Given the description of an element on the screen output the (x, y) to click on. 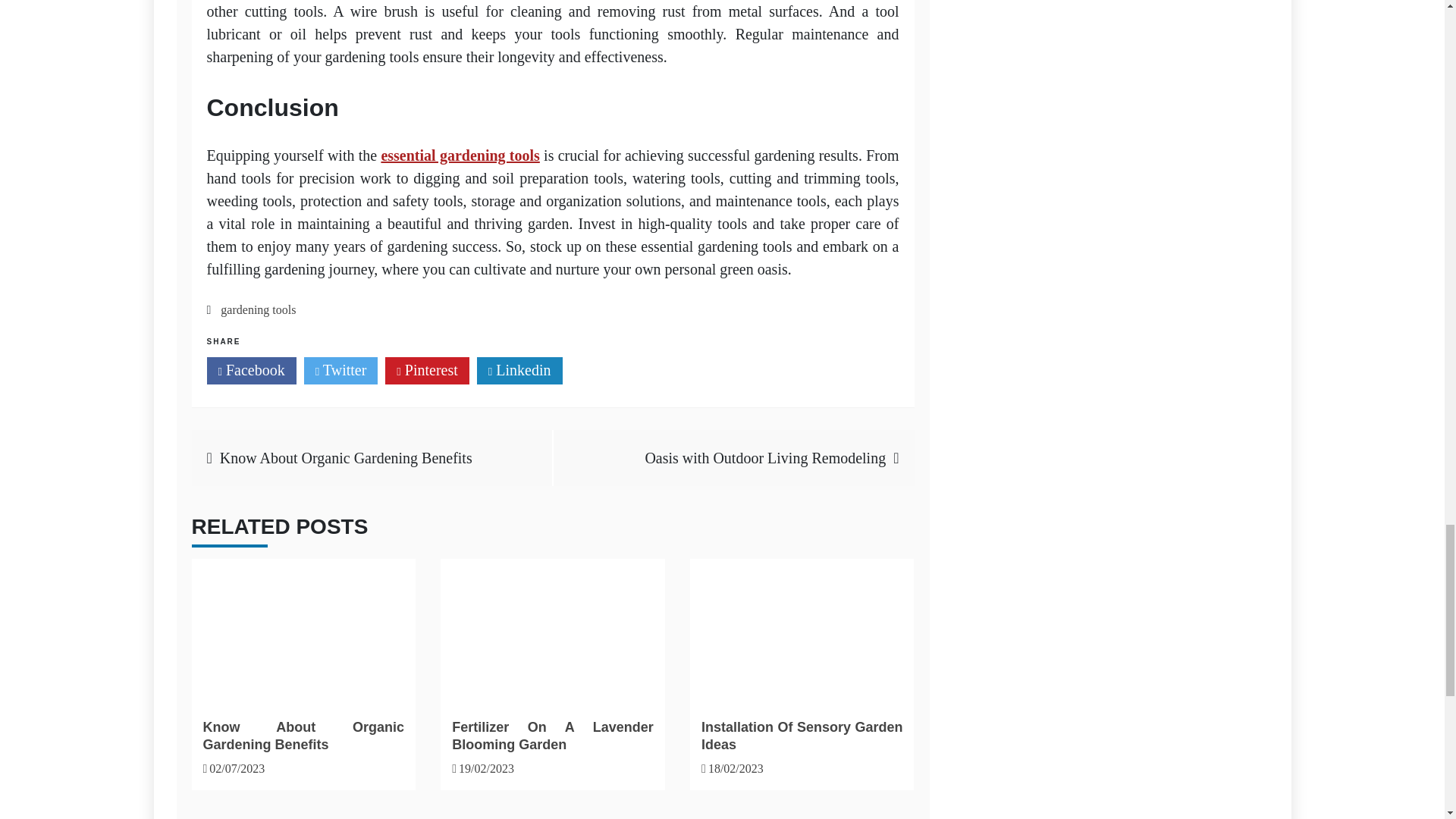
Know About Organic Gardening Benefits (303, 735)
essential gardening tools (459, 155)
Oasis with Outdoor Living Remodeling (765, 457)
Fertilizer On A Lavender Blooming Garden (552, 629)
Know About Organic Gardening Benefits (302, 629)
Pinterest (426, 370)
Facebook (250, 370)
Linkedin (519, 370)
Twitter (341, 370)
Fertilizer On A Lavender Blooming Garden (551, 735)
gardening tools (258, 309)
Know About Organic Gardening Benefits (345, 457)
